Given the description of an element on the screen output the (x, y) to click on. 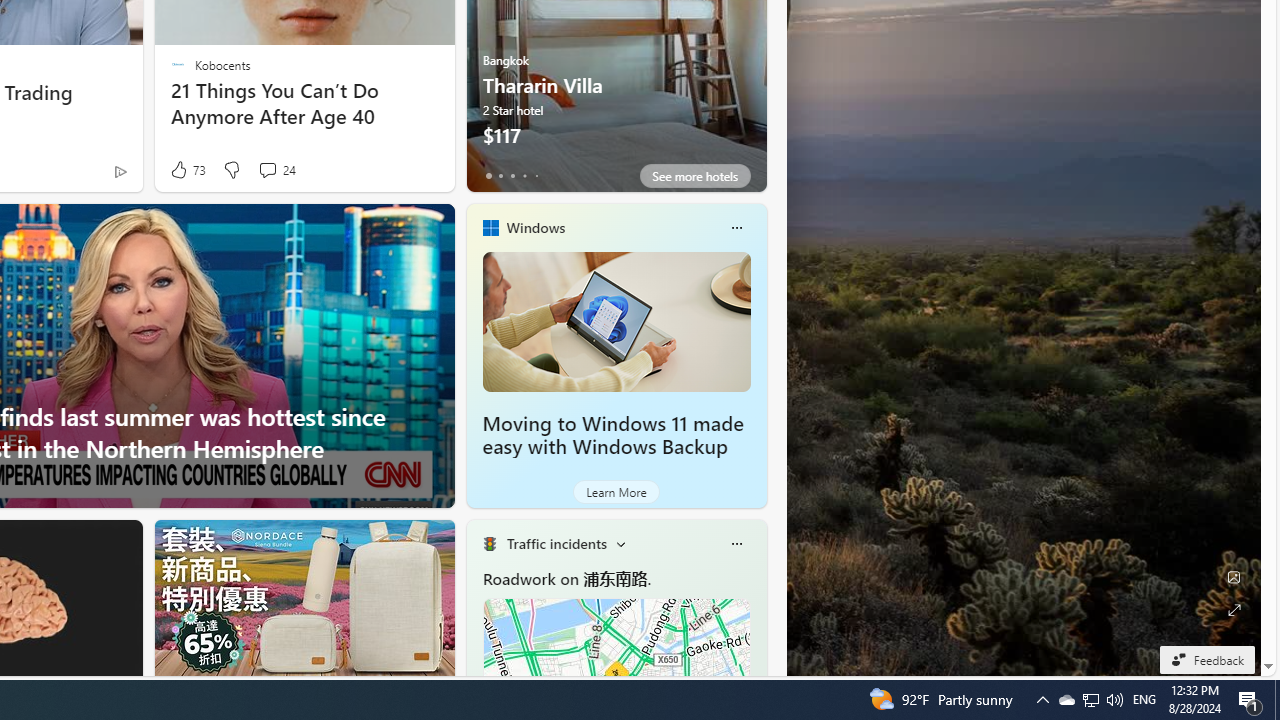
View comments 24 Comment (267, 169)
View comments 24 Comment (276, 170)
tab-4 (535, 175)
See more hotels (694, 175)
tab-0 (488, 175)
Learn More (616, 491)
Traffic Title Traffic Light (489, 543)
Edit Background (1233, 577)
tab-3 (524, 175)
Moving to Windows 11 made easy with Windows Backup (612, 435)
Traffic incidents (555, 543)
tab-1 (500, 175)
